Given the description of an element on the screen output the (x, y) to click on. 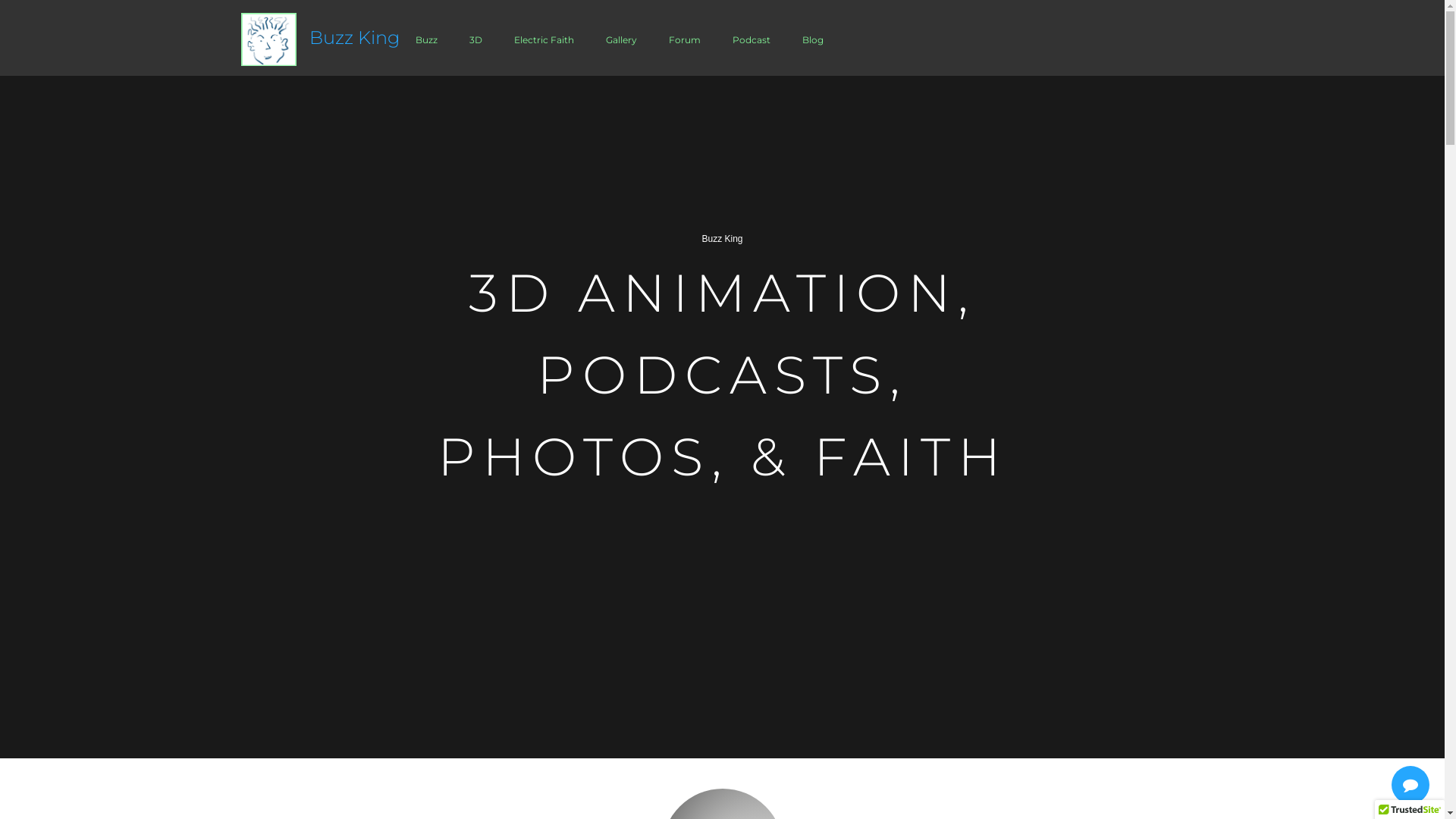
3D Element type: text (475, 39)
Forum Element type: text (684, 39)
Gallery Element type: text (621, 39)
Blog Element type: text (812, 39)
Podcast Element type: text (751, 39)
Buzz Element type: text (426, 39)
Electric Faith Element type: text (543, 39)
